Given the description of an element on the screen output the (x, y) to click on. 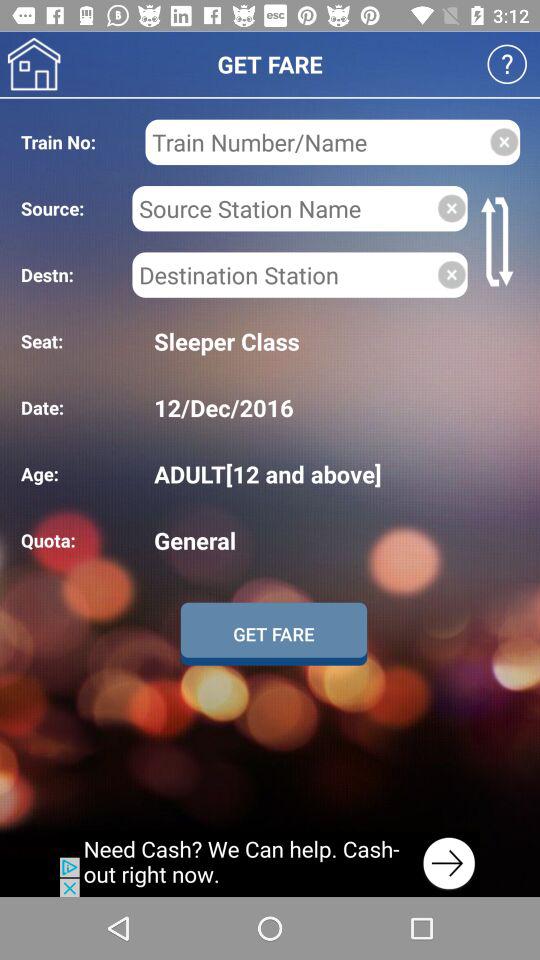
prompts for train number (316, 142)
